Given the description of an element on the screen output the (x, y) to click on. 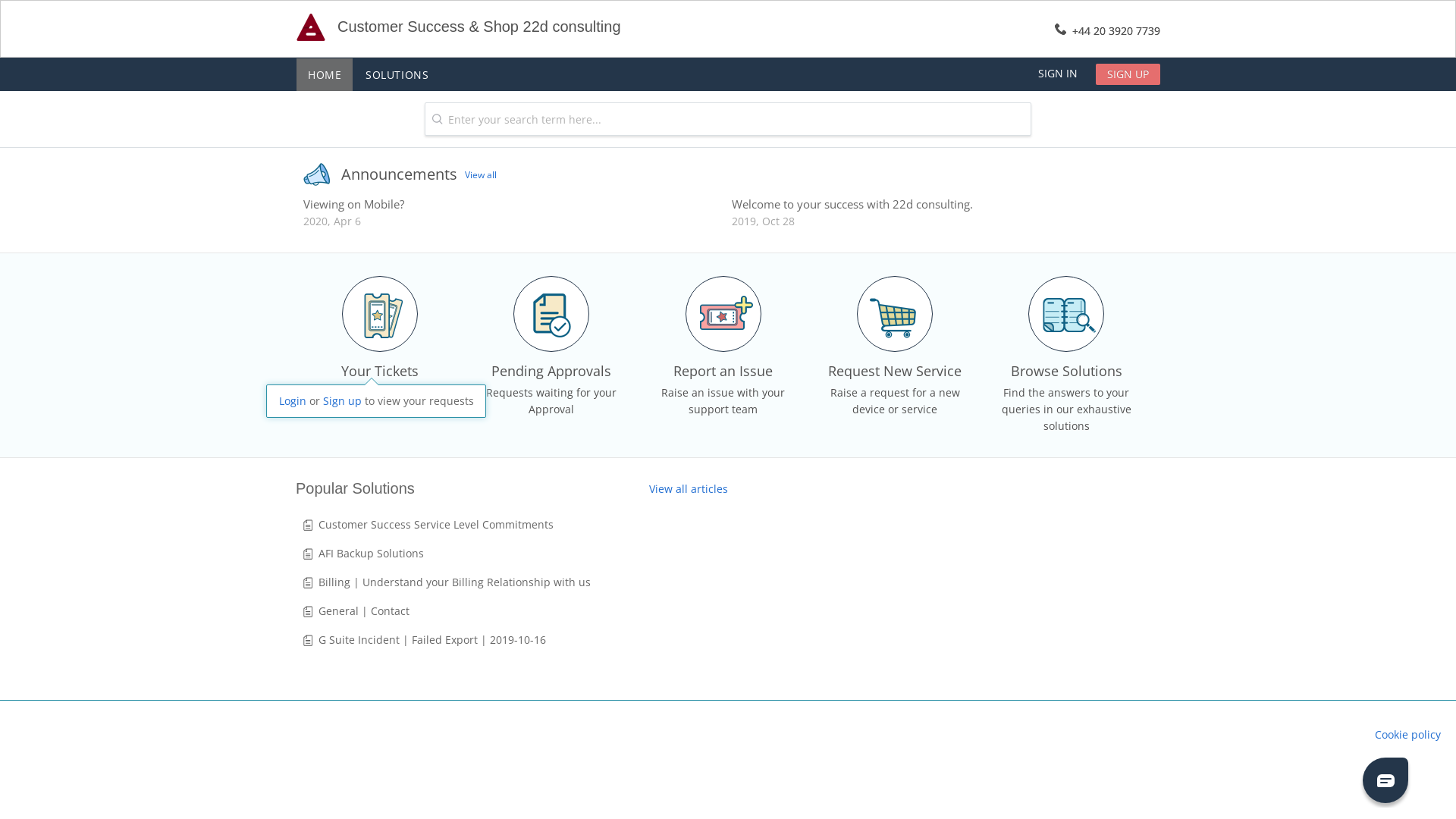
HOME Element type: text (324, 74)
Pending Approvals
Requests waiting for your Approval Element type: text (551, 362)
Your Tickets
All your tickets, responses & activities Element type: text (379, 362)
Login Element type: text (292, 400)
General | Contact Element type: text (363, 610)
Chat Element type: hover (1385, 778)
G Suite Incident | Failed Export | 2019-10-16 Element type: text (432, 639)
Welcome to your success with 22d consulting. Element type: text (851, 203)
+44 20 3920 7739 Element type: text (1116, 30)
SIGN UP Element type: text (1127, 73)
Customer Success Service Level Commitments Element type: text (435, 524)
Viewing on Mobile? Element type: text (353, 203)
SIGN IN Element type: text (1057, 72)
View all articles Element type: text (688, 488)
View all Element type: text (480, 175)
Report an Issue
Raise an issue with your support team Element type: text (723, 362)
Cookie policy Element type: text (1407, 734)
Billing | Understand your Billing Relationship with us Element type: text (454, 581)
Sign up Element type: text (342, 400)
SOLUTIONS Element type: text (396, 74)
AFI Backup Solutions Element type: text (370, 553)
